Given the description of an element on the screen output the (x, y) to click on. 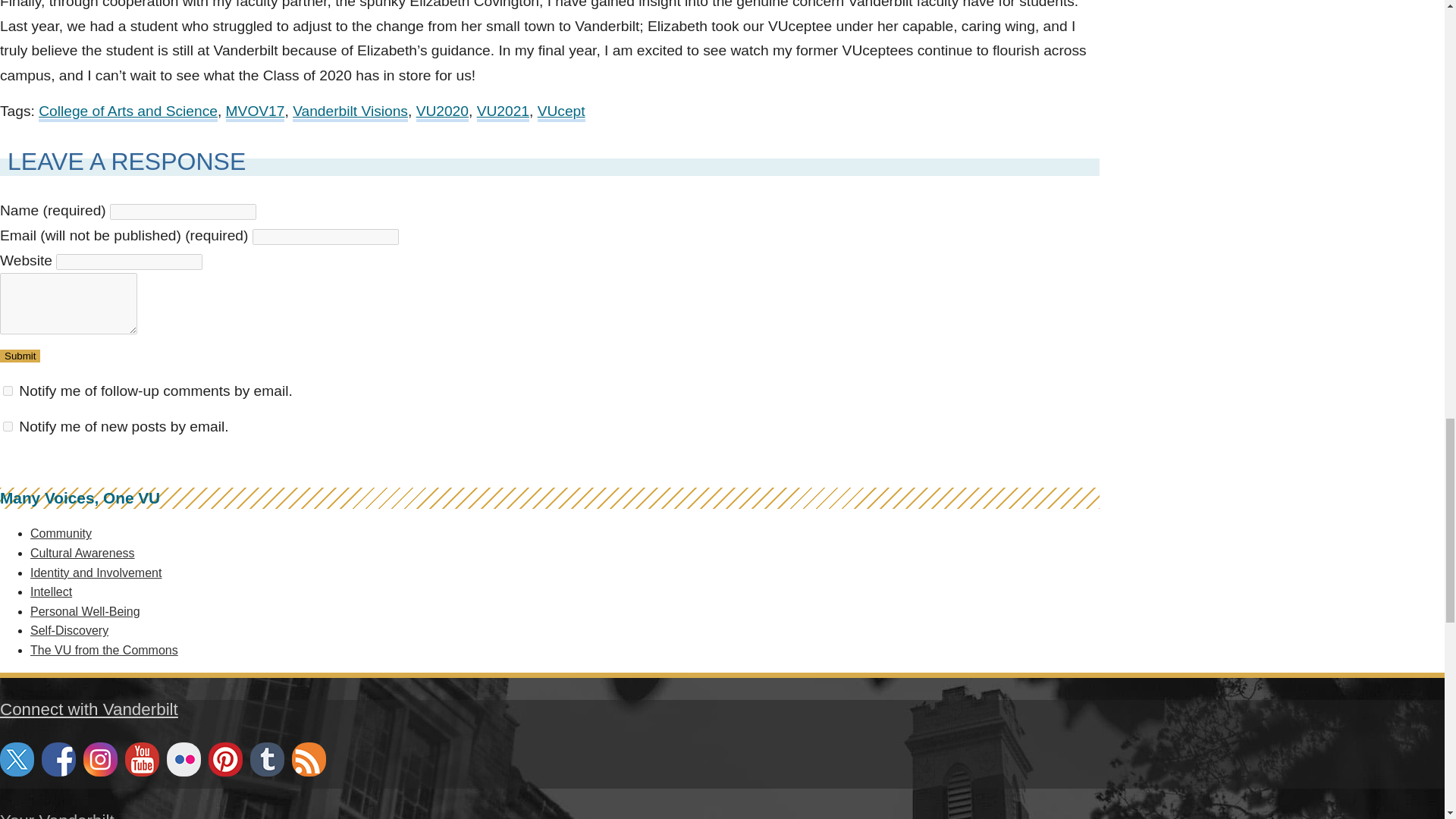
follow us on tumblr (266, 759)
follow us on twitter (16, 759)
subscribe (7, 390)
Personal Well-Being (84, 611)
Subscribe to RSS feed (309, 759)
Cultural Awareness (82, 553)
Community (60, 533)
Intellect (50, 591)
Submit (20, 355)
follow us on youtube (141, 759)
subscribe (7, 426)
Identity and Involvement (95, 572)
VU2020 (442, 112)
The VU from the Commons (103, 649)
VUcept (561, 112)
